Given the description of an element on the screen output the (x, y) to click on. 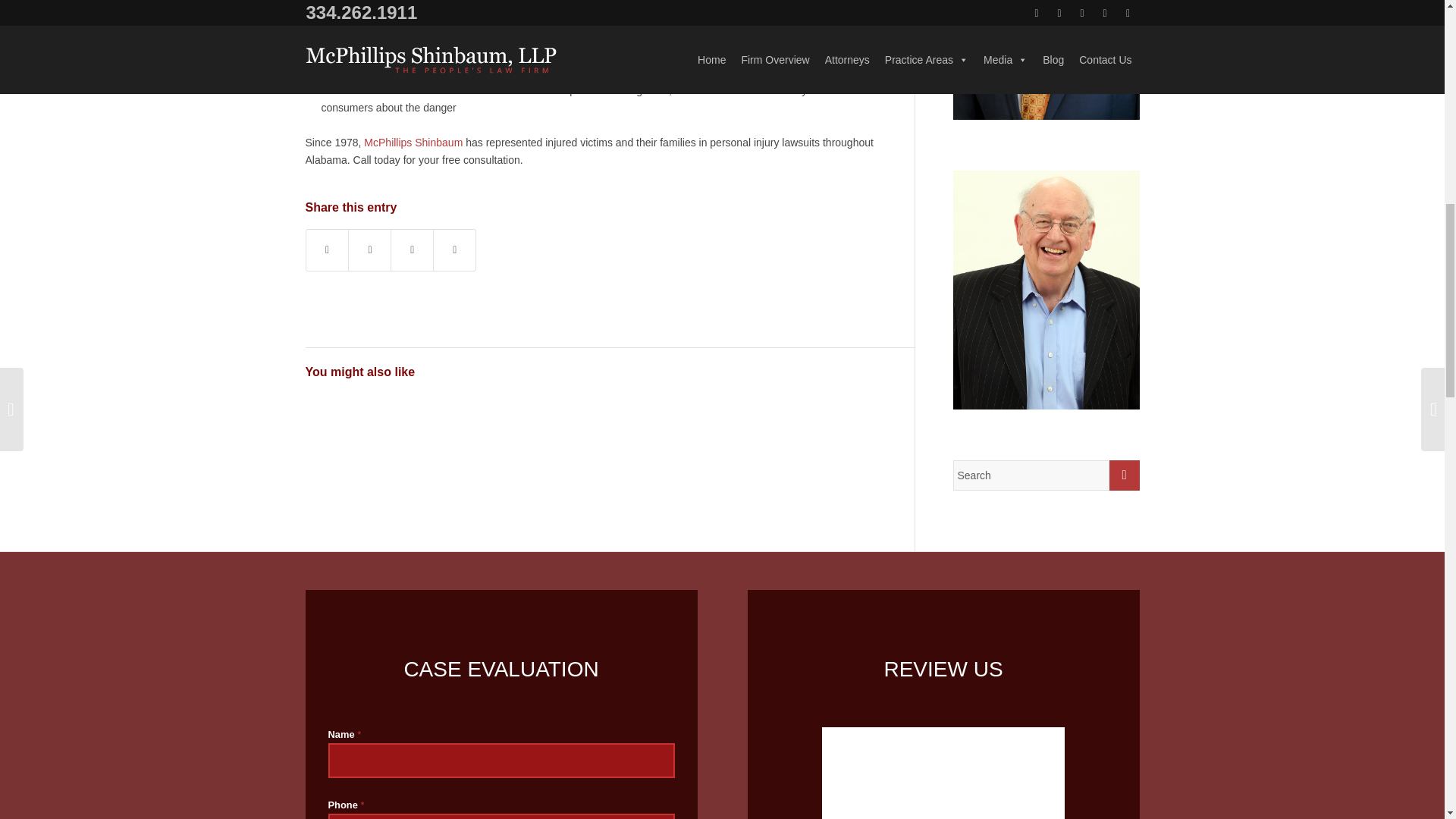
Can I Sue for Wrongful Death? (411, 427)
What if I Am at Fault, Too? (339, 427)
